Given the description of an element on the screen output the (x, y) to click on. 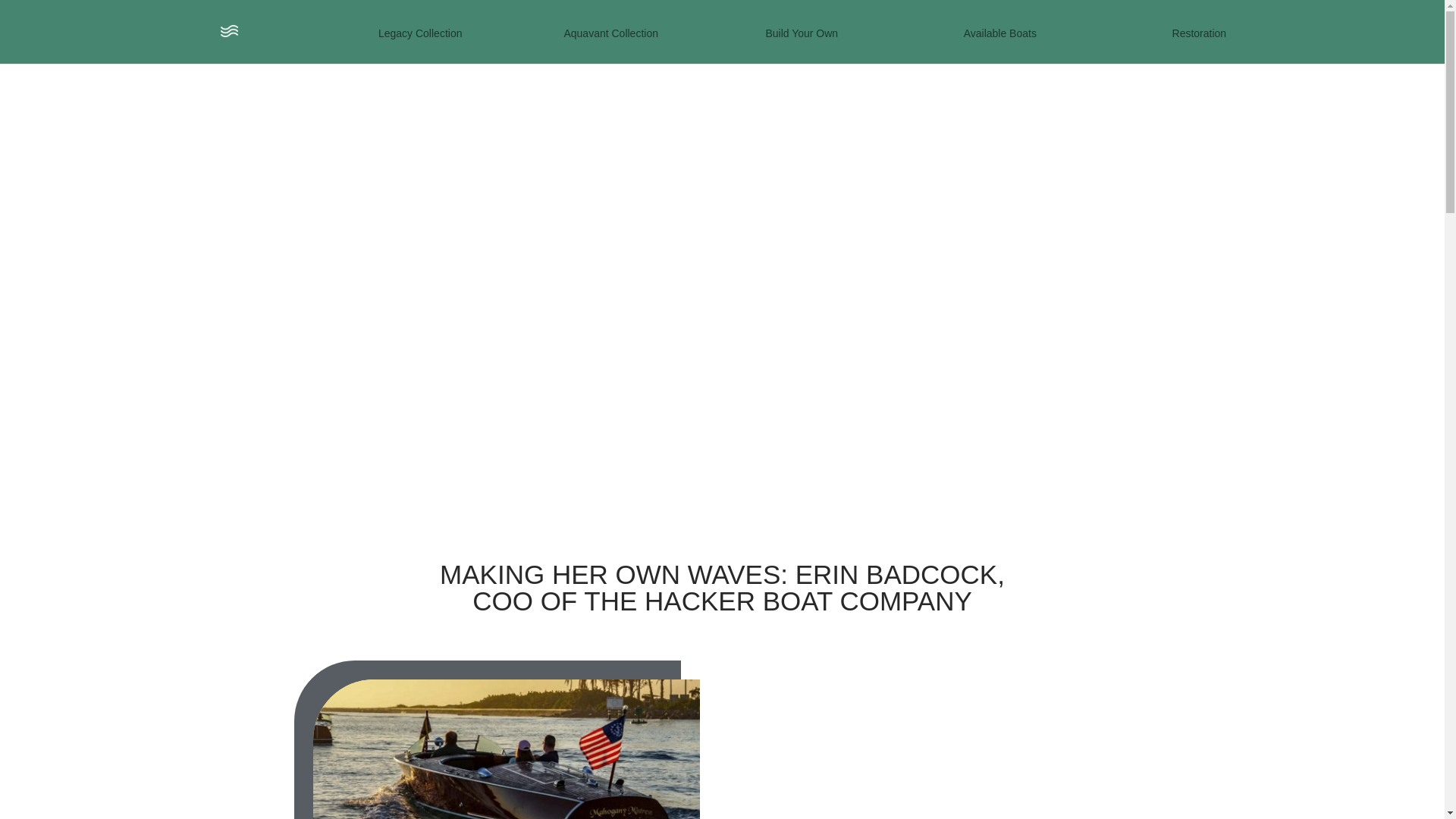
Restoration (1199, 45)
Build Your Own (809, 45)
Legacy Collection (427, 45)
Available Boats (1000, 45)
Aquavant Collection (618, 45)
